Given the description of an element on the screen output the (x, y) to click on. 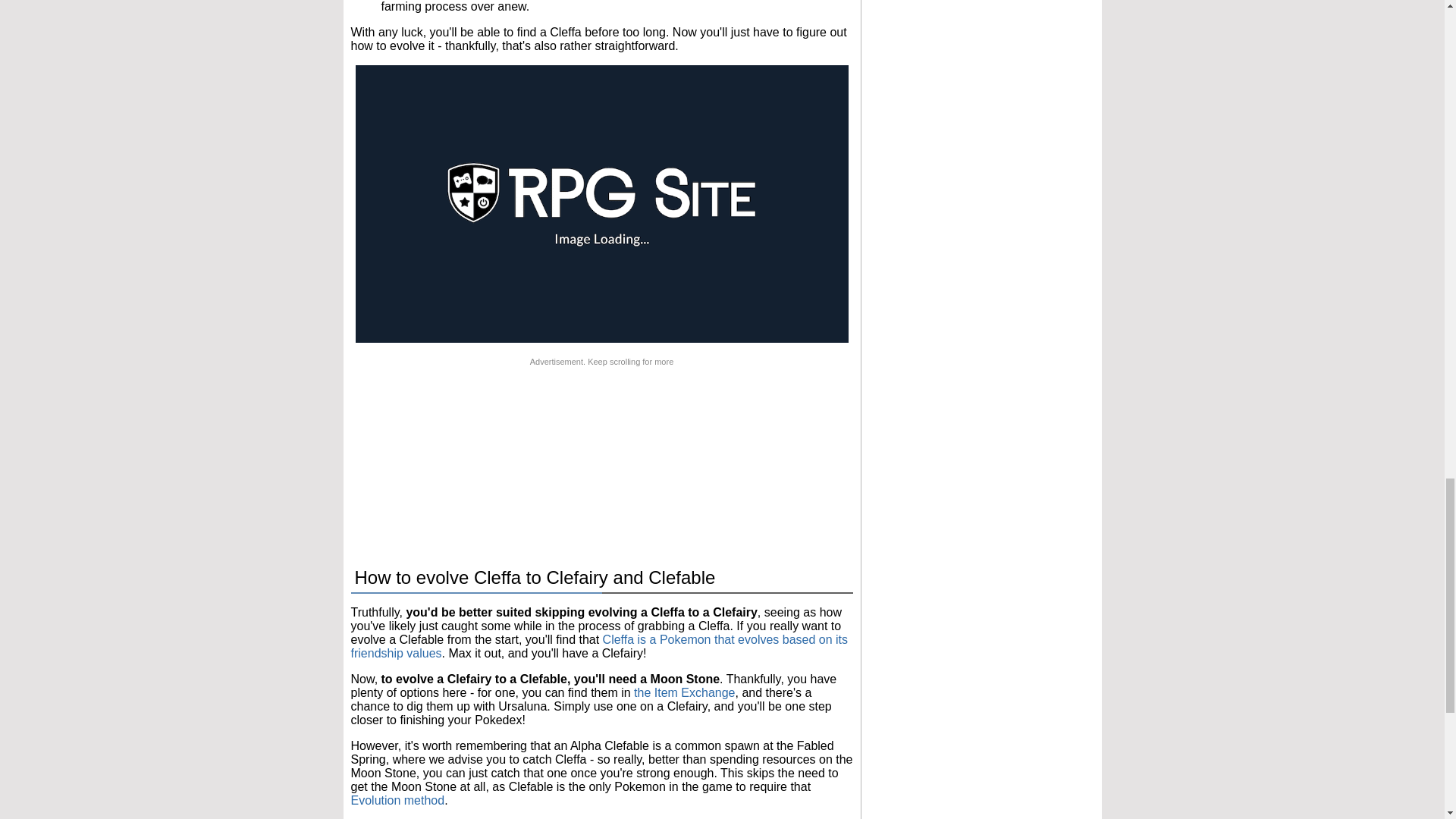
the Item Exchange (684, 692)
Evolution method (397, 799)
